Given the description of an element on the screen output the (x, y) to click on. 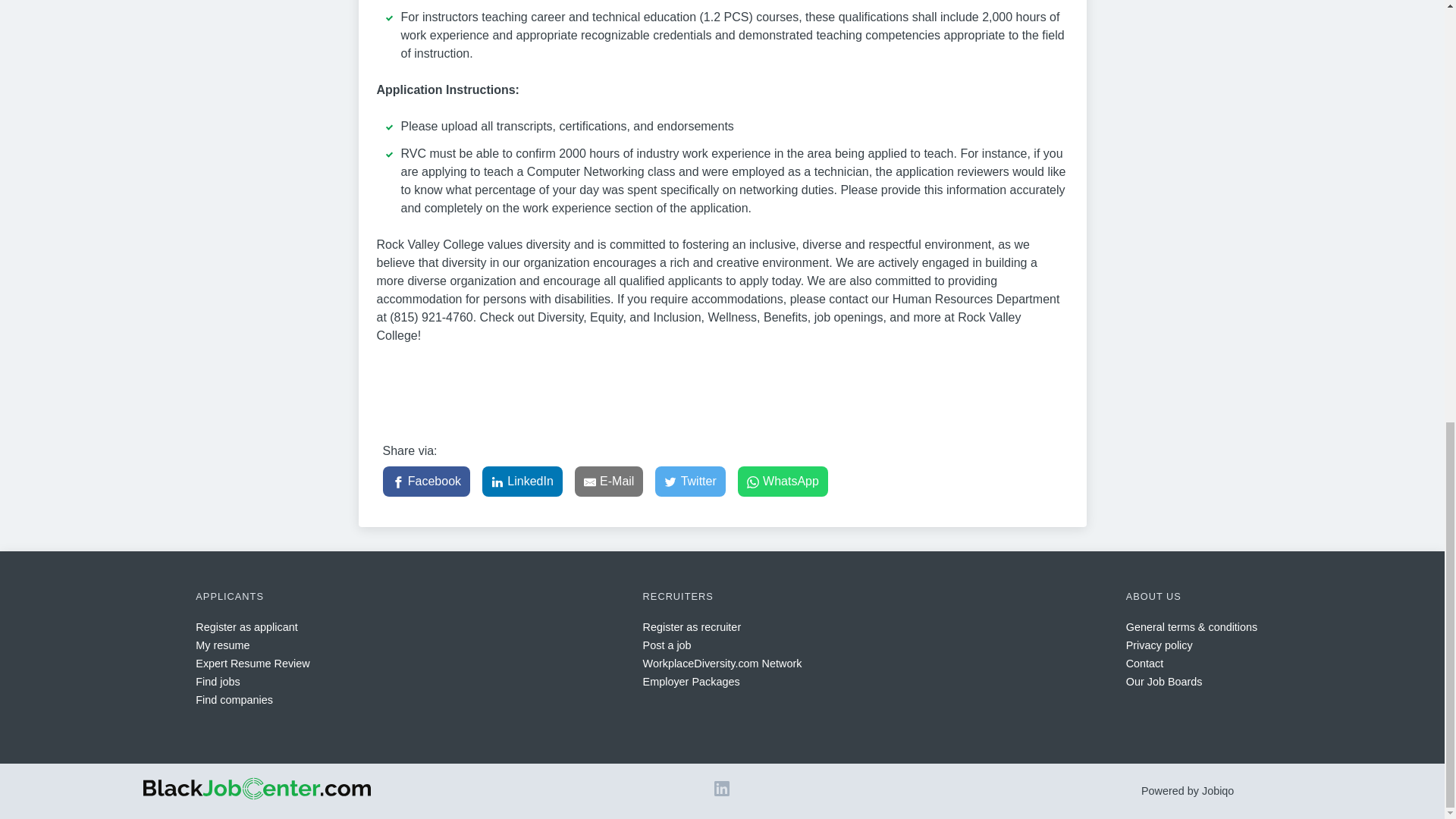
Expert Resume Review (251, 663)
Find companies (234, 699)
LinkedIn logo (721, 792)
Register as applicant (246, 626)
My resume (221, 645)
Register as recruiter (692, 626)
Facebook (425, 481)
Twitter (690, 481)
Post a job (667, 645)
E-Mail (609, 481)
WhatsApp (783, 481)
LinkedIn (521, 481)
WorkplaceDiversity.com Network (722, 663)
LinkedIn logo (721, 788)
Powered by Jobiqo (1187, 790)
